Given the description of an element on the screen output the (x, y) to click on. 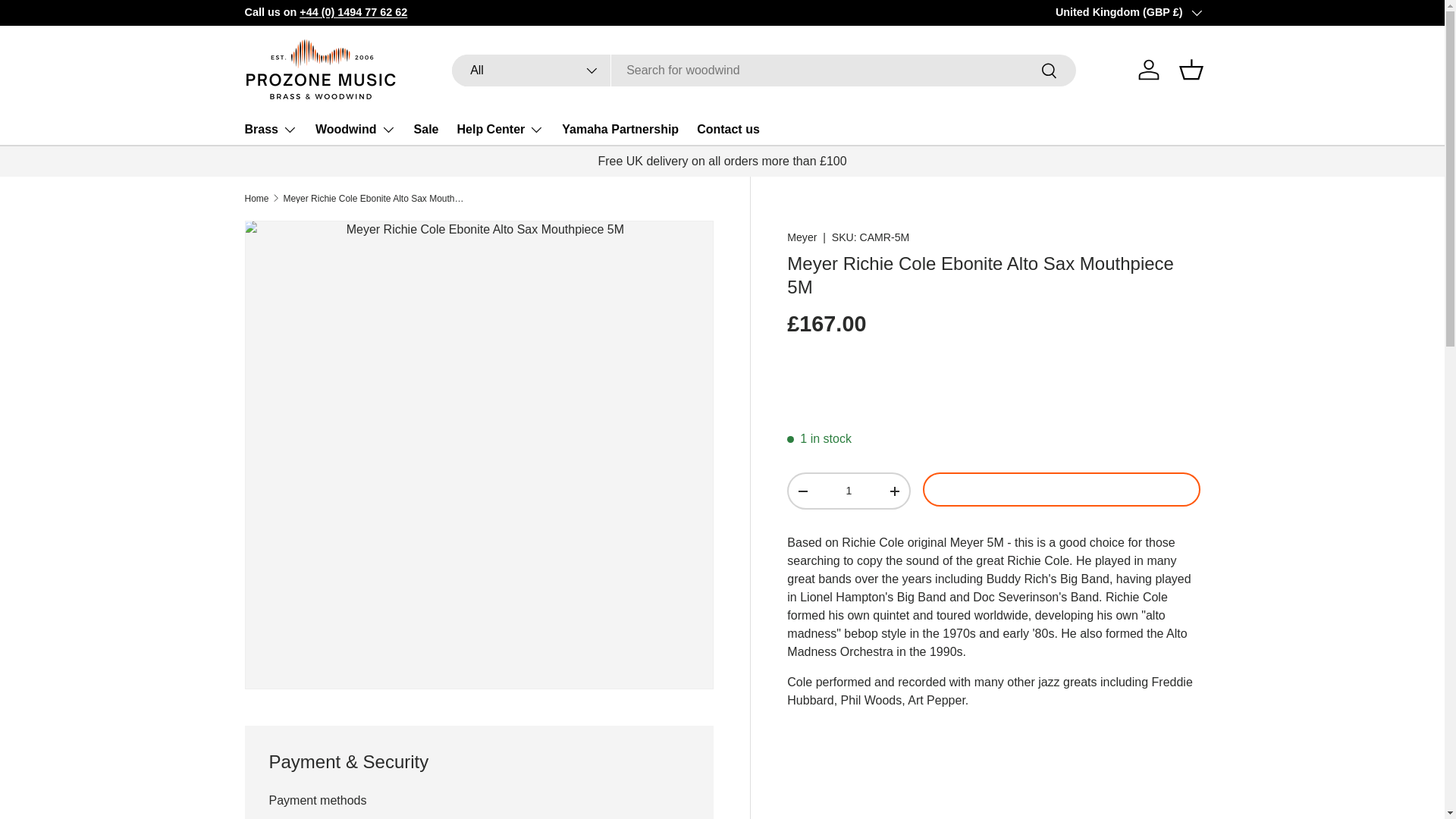
Skip to content (69, 21)
Brass (270, 129)
1 (847, 490)
Basket (1190, 69)
Log in (1147, 69)
Search (1049, 71)
PayPal Message 1 (993, 382)
All (531, 70)
